Given the description of an element on the screen output the (x, y) to click on. 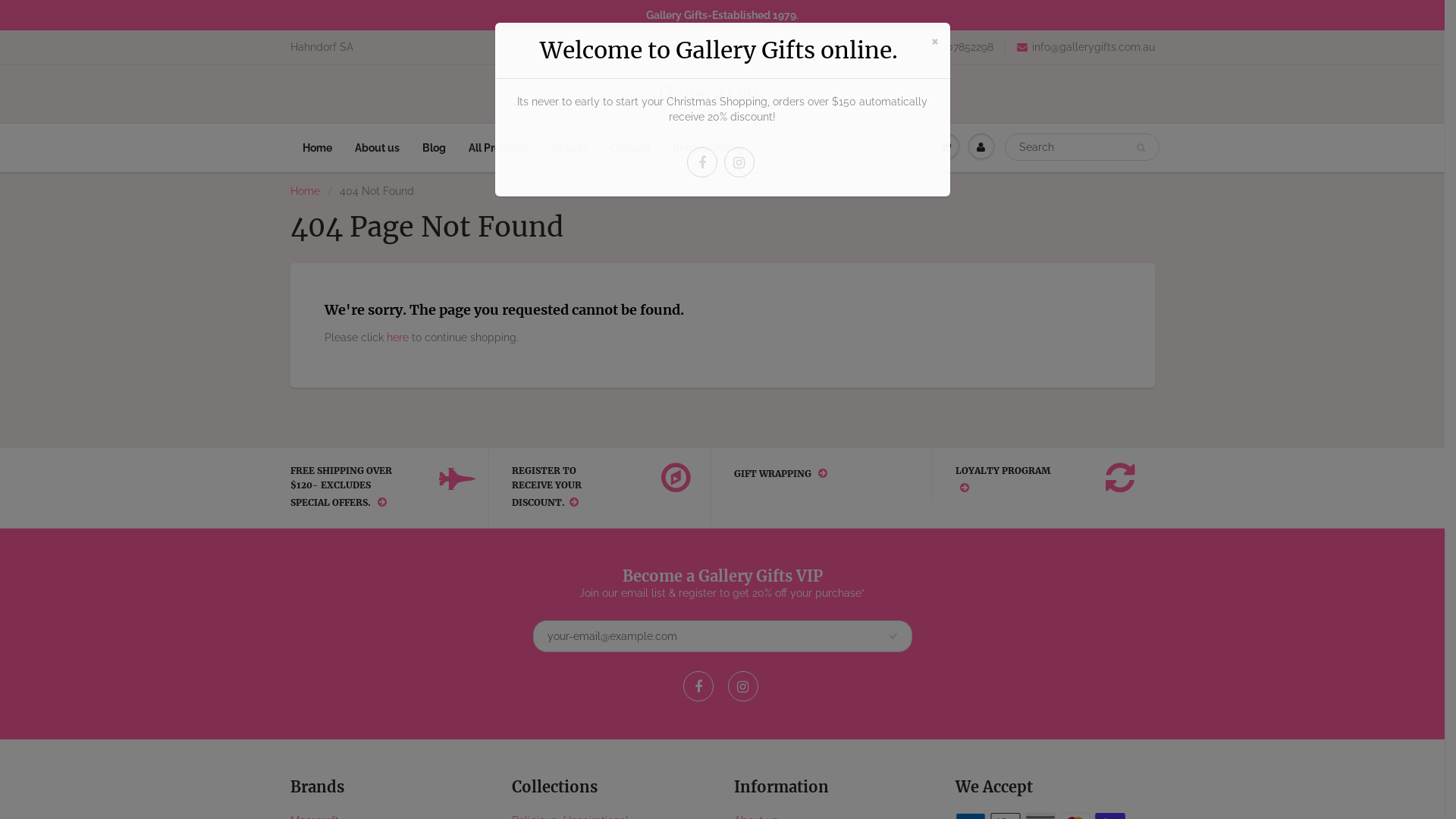
Instagram Element type: hover (743, 686)
Instagram Element type: hover (738, 162)
FREE SHIPPING OVER $120- EXCLUDES SPECIAL OFFERS. Element type: text (365, 487)
Facebook Element type: hover (697, 686)
here Element type: text (397, 337)
GIFT WRAPPING Element type: text (810, 473)
Home Element type: text (317, 147)
Brands Element type: text (568, 147)
info@gallerygifts.com.au Element type: text (1085, 46)
REGISTER TO RECEIVE YOUR DISCOUNT. Element type: text (588, 487)
Gallery Gifts Element type: text (721, 92)
(08) 8388 1363, 0407852298 Element type: text (918, 46)
Facebook Element type: hover (702, 162)
Contact Element type: text (630, 147)
Blog Element type: text (434, 147)
About us Element type: text (376, 147)
Search Element type: text (1140, 147)
All Products Element type: text (497, 147)
Home Element type: text (304, 191)
Returns Policy Element type: text (708, 147)
LOYALTY PROGRAM Element type: text (1032, 480)
Subscribe Element type: text (892, 636)
